Given the description of an element on the screen output the (x, y) to click on. 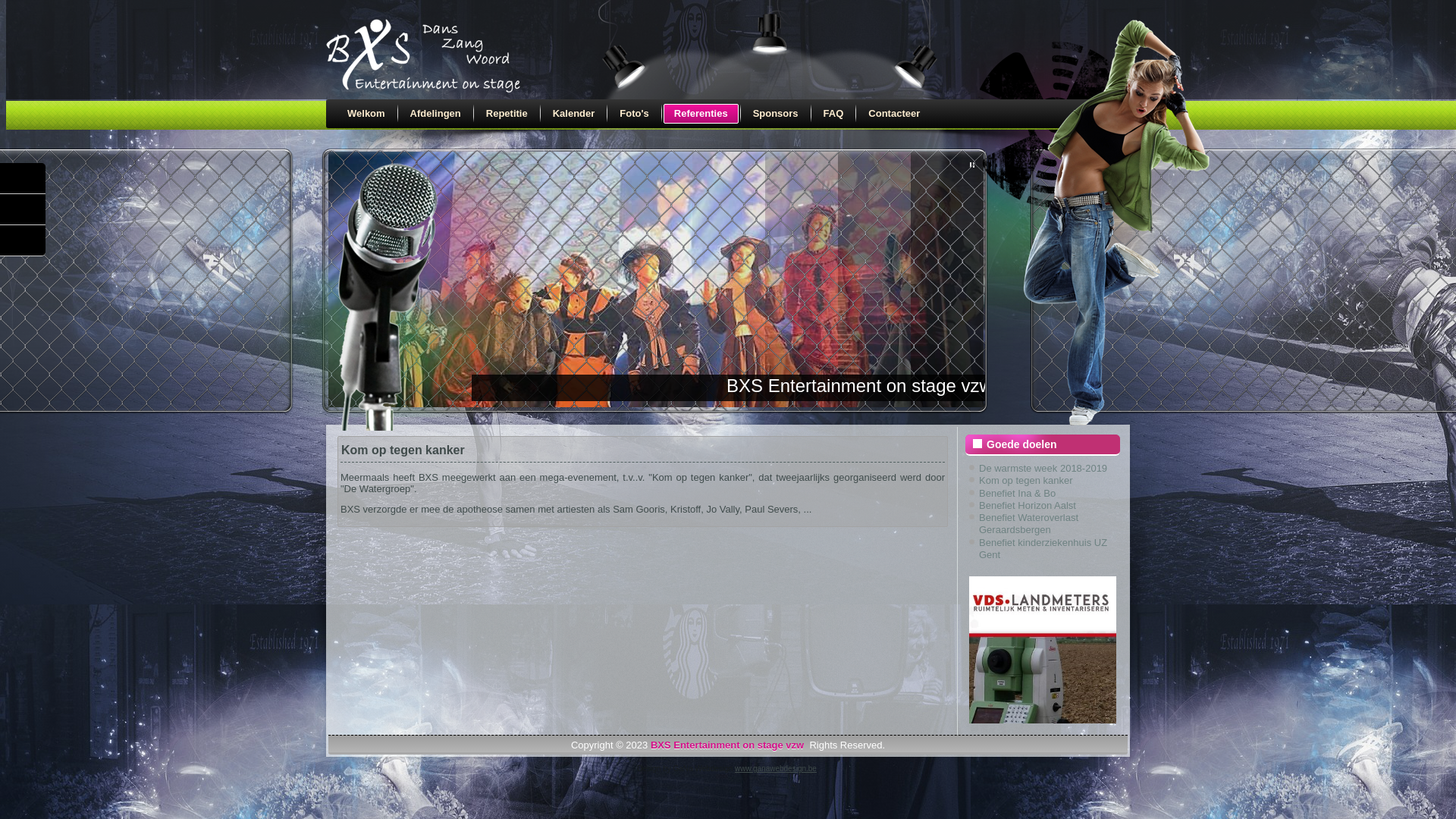
www.ganawebdesign.be Element type: text (775, 768)
Kom op tegen kanker Element type: text (1026, 480)
Kom op tegen kanker Element type: text (402, 449)
Welkom Element type: text (365, 113)
Repetitie Element type: text (506, 113)
Sponsors Element type: text (775, 113)
Foto's Element type: text (633, 113)
Afdelingen Element type: text (435, 113)
Referenties Element type: text (700, 113)
Benefiet Ina & Bo Element type: text (1017, 492)
Benefiet kinderziekenhuis UZ Gent Element type: text (1043, 548)
De warmste week 2018-2019 Element type: text (1043, 467)
Contacteer Element type: text (893, 113)
FAQ Element type: text (833, 113)
Kalender Element type: text (573, 113)
Benefiet Horizon Aalst Element type: text (1027, 505)
Benefiet Wateroverlast Geraardsbergen Element type: text (1028, 523)
